Given the description of an element on the screen output the (x, y) to click on. 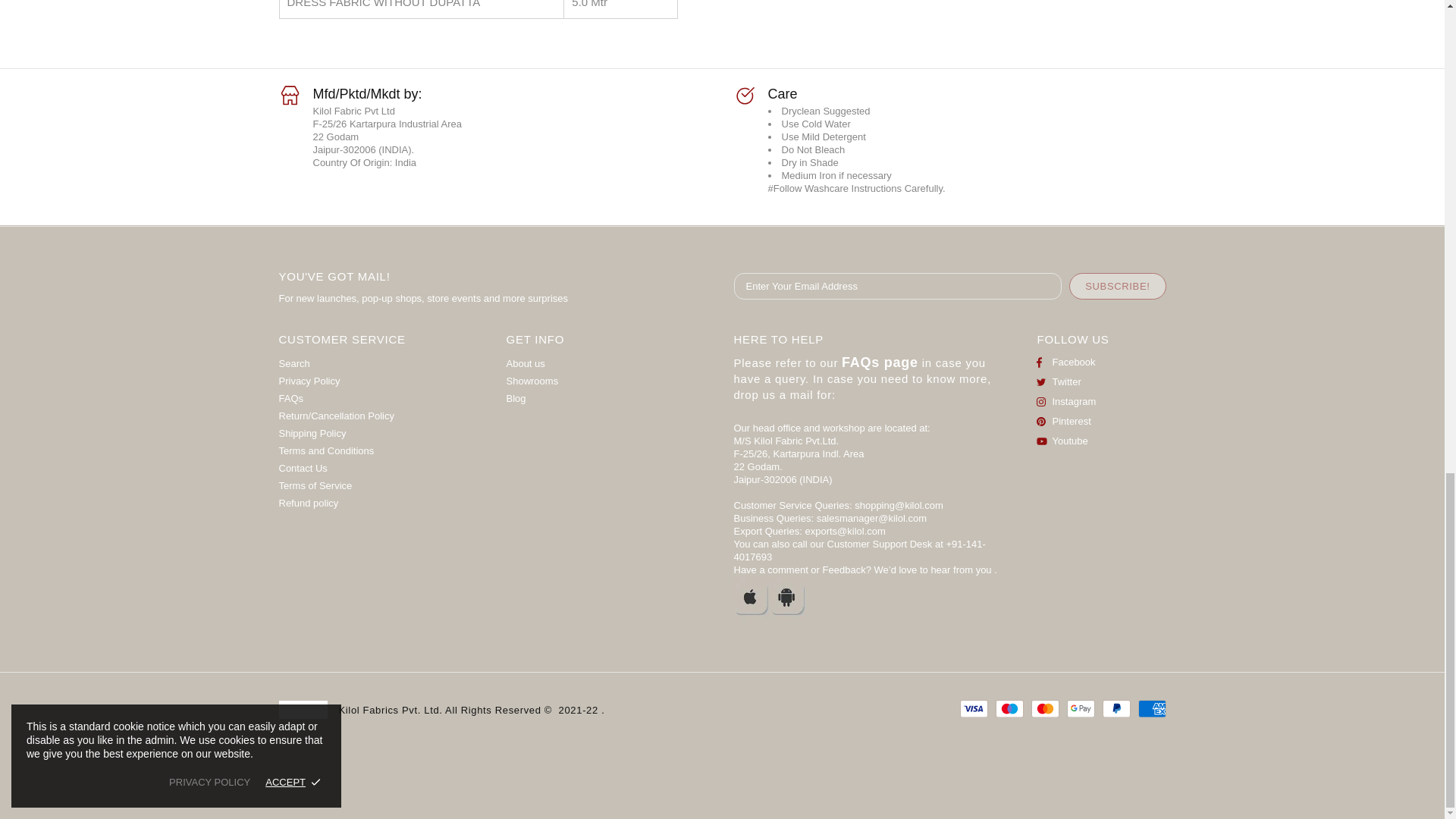
SUBSCRIBE! (1117, 285)
